Given the description of an element on the screen output the (x, y) to click on. 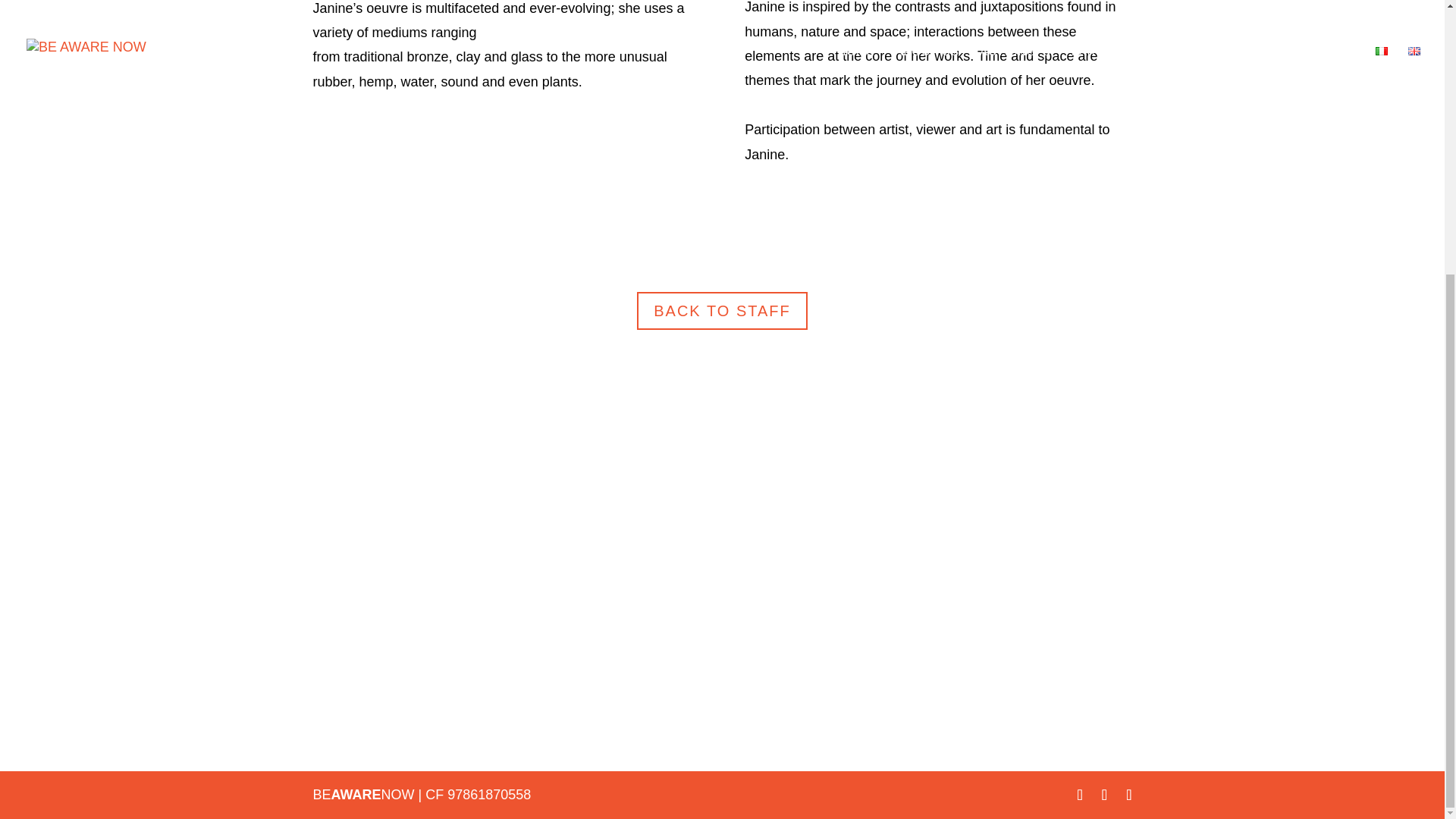
BACK TO STAFF (721, 310)
